Given the description of an element on the screen output the (x, y) to click on. 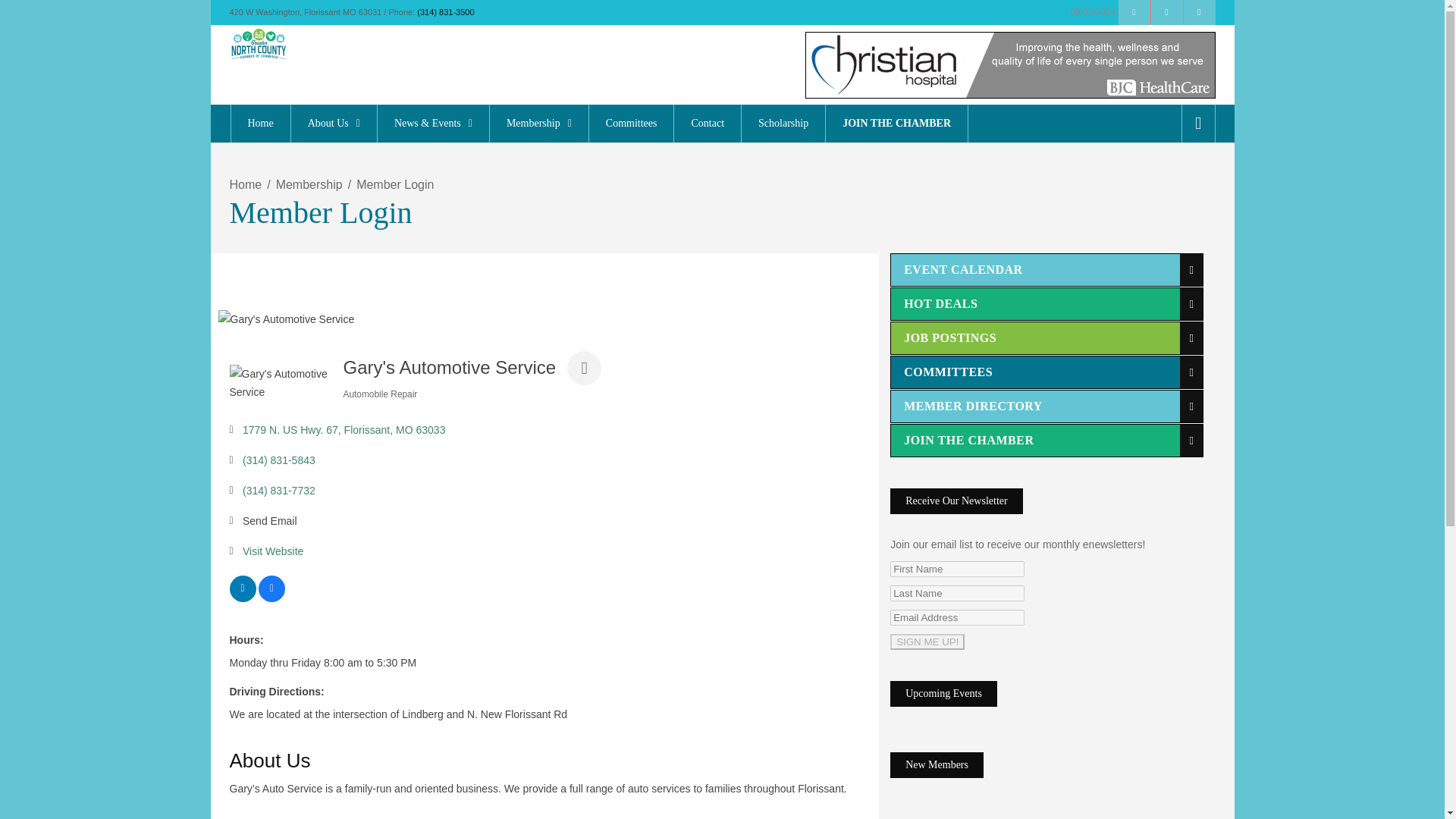
JOIN THE CHAMBER (896, 123)
Scholarship (783, 123)
Gary's Automotive Service (279, 382)
Committees (631, 123)
About Us (333, 123)
View on Facebook (270, 598)
Contact (706, 123)
Gary's Automotive Service (286, 319)
View on LinkedIn (242, 598)
Membership (538, 123)
